Given the description of an element on the screen output the (x, y) to click on. 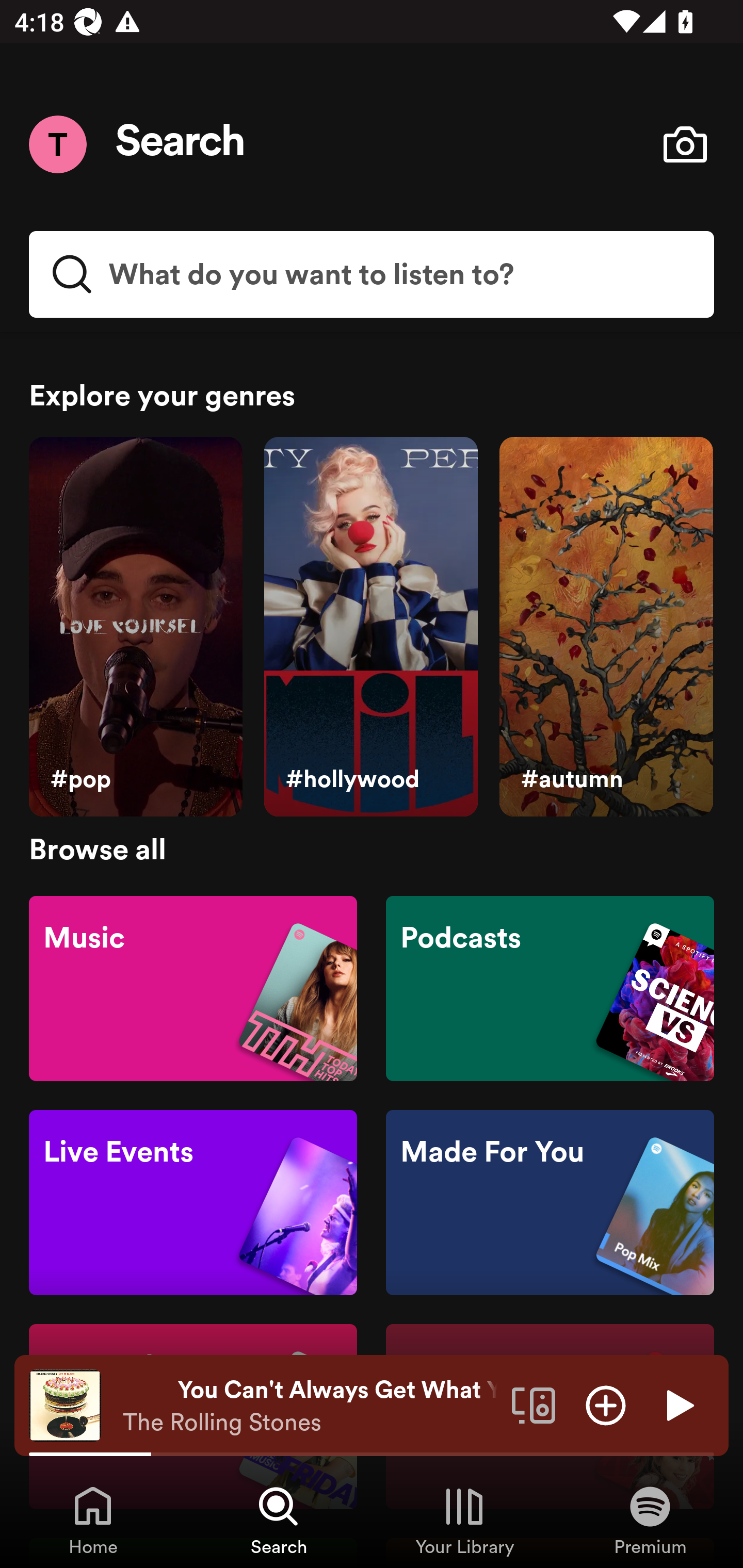
Menu (57, 144)
Open camera (685, 145)
Search (180, 144)
#pop (135, 626)
#hollywood (370, 626)
#autumn (606, 626)
Music (192, 987)
Podcasts (549, 987)
Live Events (192, 1202)
Made For You (549, 1202)
The cover art of the currently playing track (64, 1404)
Connect to a device. Opens the devices menu (533, 1404)
Add item (605, 1404)
Play (677, 1404)
Home, Tab 1 of 4 Home Home (92, 1519)
Search, Tab 2 of 4 Search Search (278, 1519)
Your Library, Tab 3 of 4 Your Library Your Library (464, 1519)
Premium, Tab 4 of 4 Premium Premium (650, 1519)
